Given the description of an element on the screen output the (x, y) to click on. 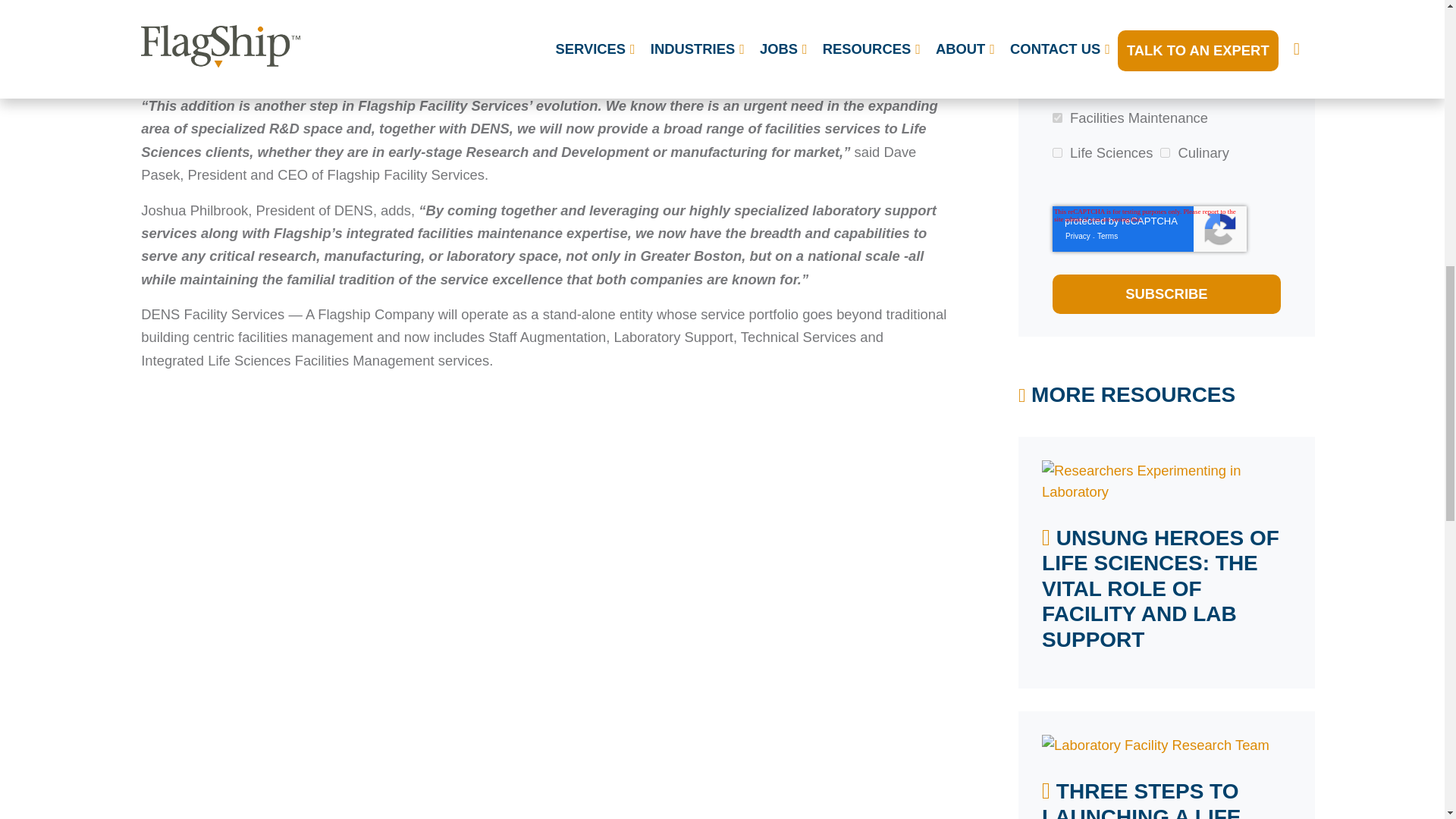
Facilities Maintenance (1057, 117)
reCAPTCHA (1149, 228)
Laboratory Facility Research Team (1155, 756)
Life Sciences (1057, 153)
Aviation (1057, 82)
Three Steps to Launching a Life Sciences Facility (1166, 756)
Subscribe (1166, 293)
Culinary (1165, 153)
